Given the description of an element on the screen output the (x, y) to click on. 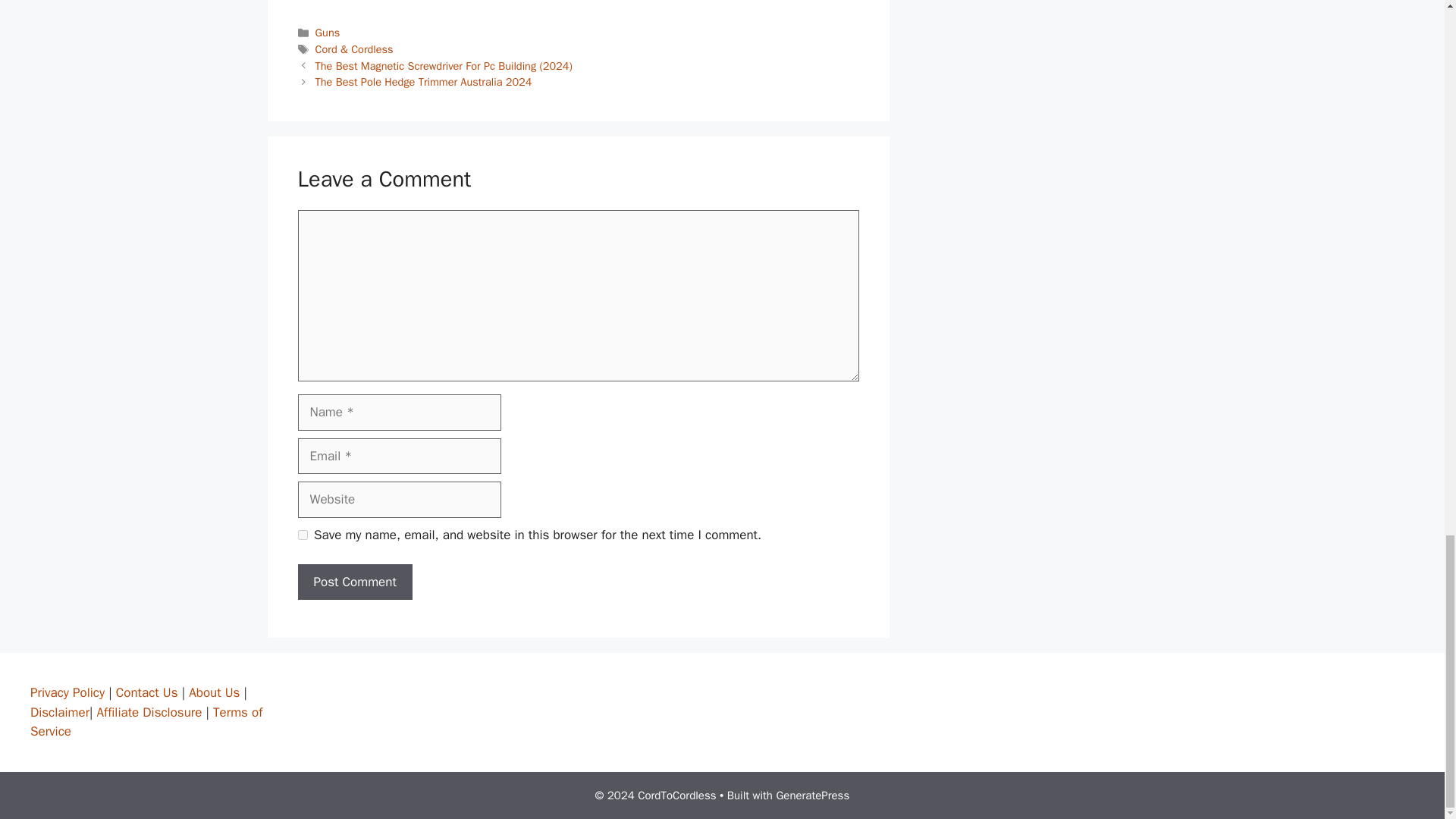
Next (423, 81)
Contact Us (149, 692)
Terms of Service (146, 722)
Post Comment (354, 582)
yes (302, 534)
Disclaimer (59, 712)
Post Comment (354, 582)
Privacy Policy (68, 692)
About Us (214, 692)
Affiliate Disclosure (149, 712)
